Given the description of an element on the screen output the (x, y) to click on. 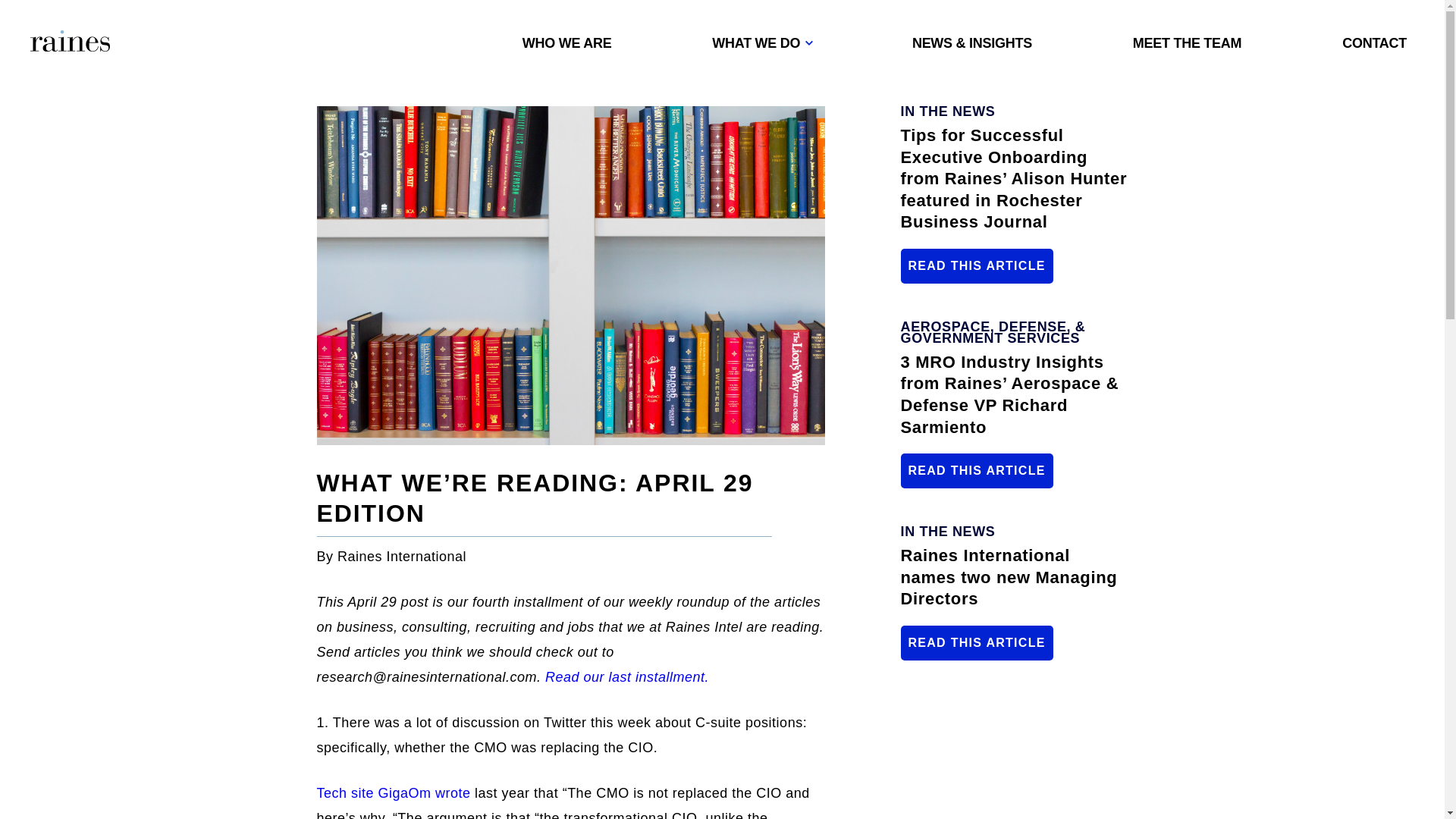
MEET THE TEAM (1186, 43)
WHAT WE DO (760, 43)
CONTACT (1374, 43)
Open Raines International names two new Managing Directors (976, 642)
Back to Home (70, 43)
READ THIS ARTICLE (976, 265)
Tech site GigaOm wrote  (396, 792)
READ THIS ARTICLE (976, 642)
WHO WE ARE (566, 43)
